Given the description of an element on the screen output the (x, y) to click on. 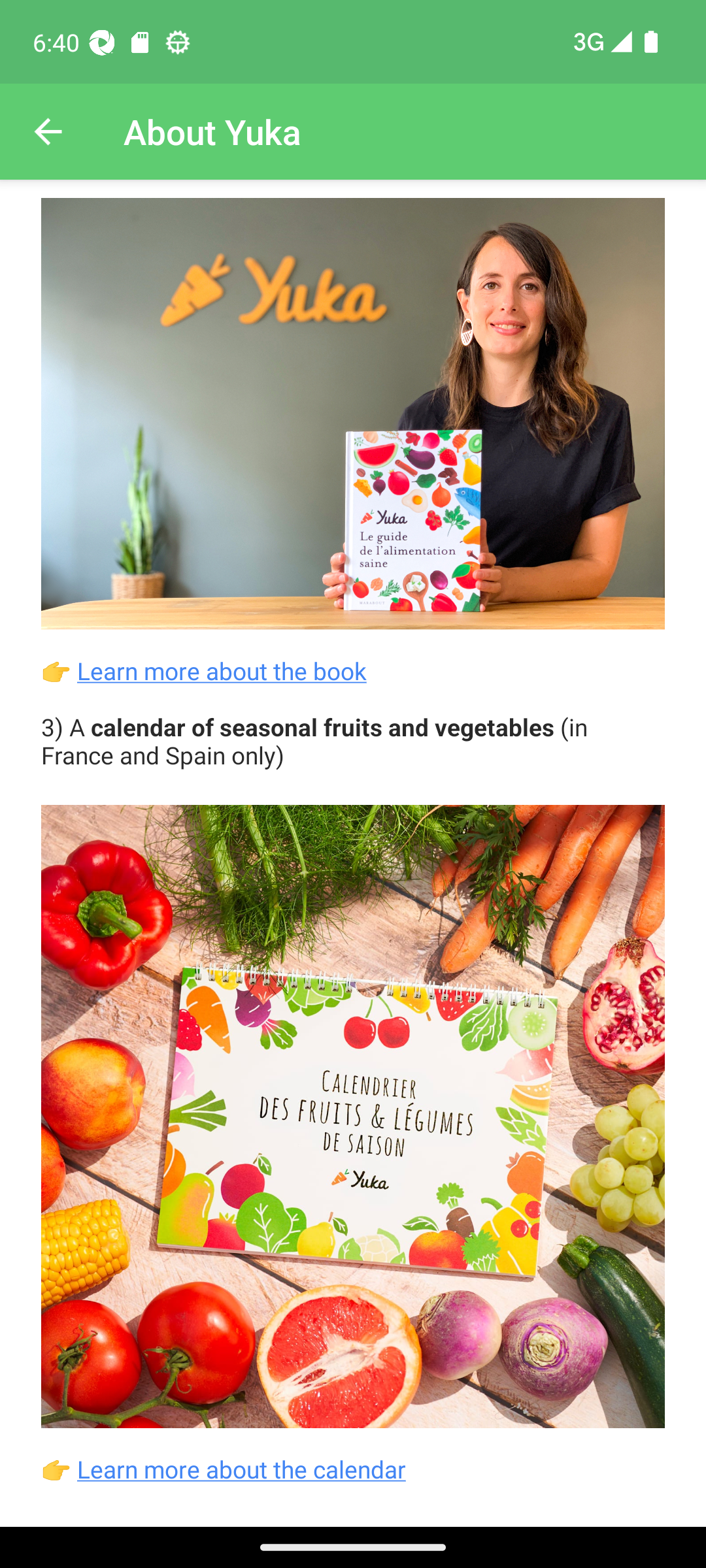
Navigate up (48, 131)
